Given the description of an element on the screen output the (x, y) to click on. 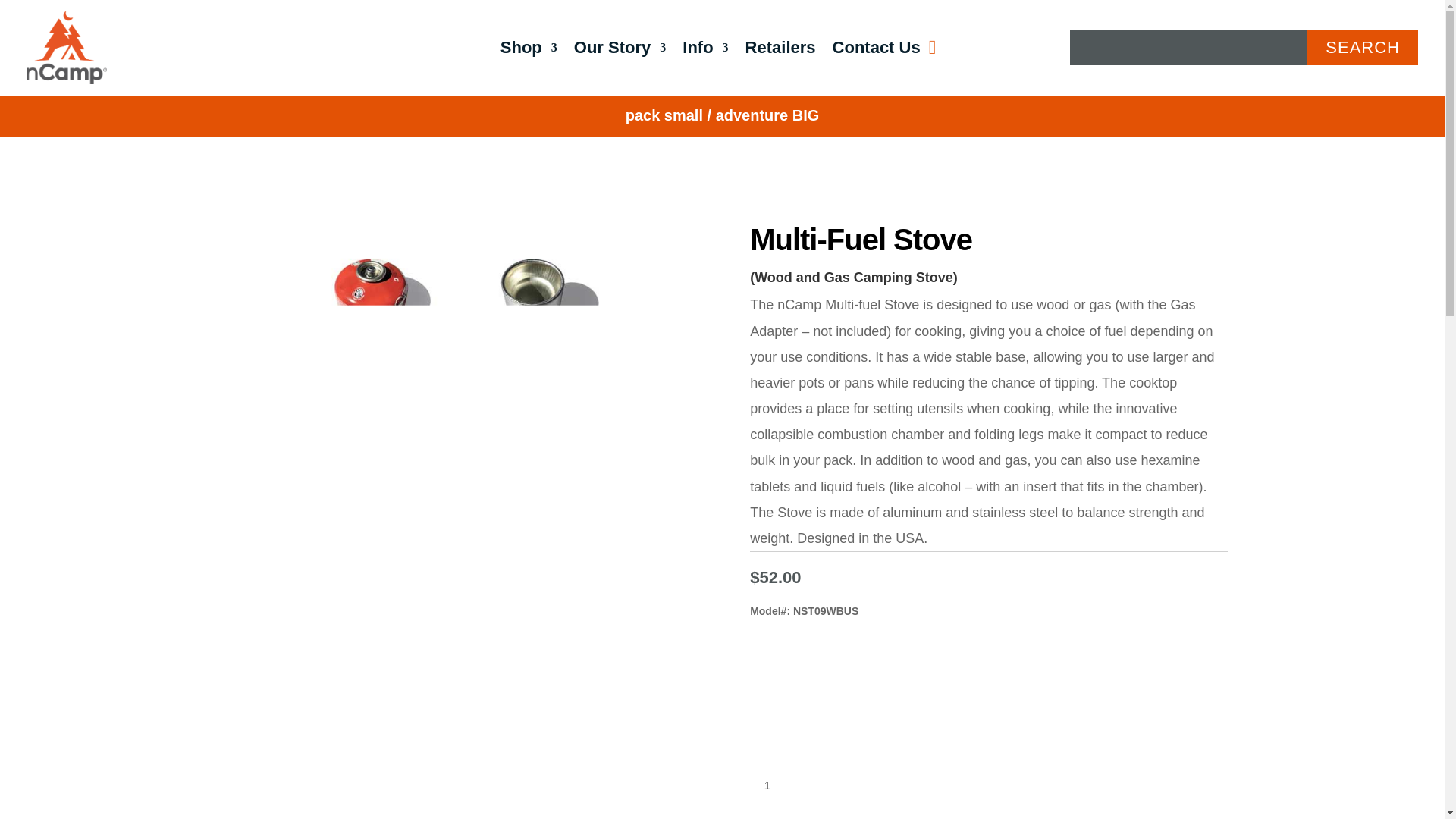
Our Story (619, 50)
Search (1362, 48)
Shop (528, 50)
Info (705, 50)
Search (1362, 48)
1 (771, 786)
Search (1362, 48)
Contact Us (876, 50)
Retailers (780, 50)
